Given the description of an element on the screen output the (x, y) to click on. 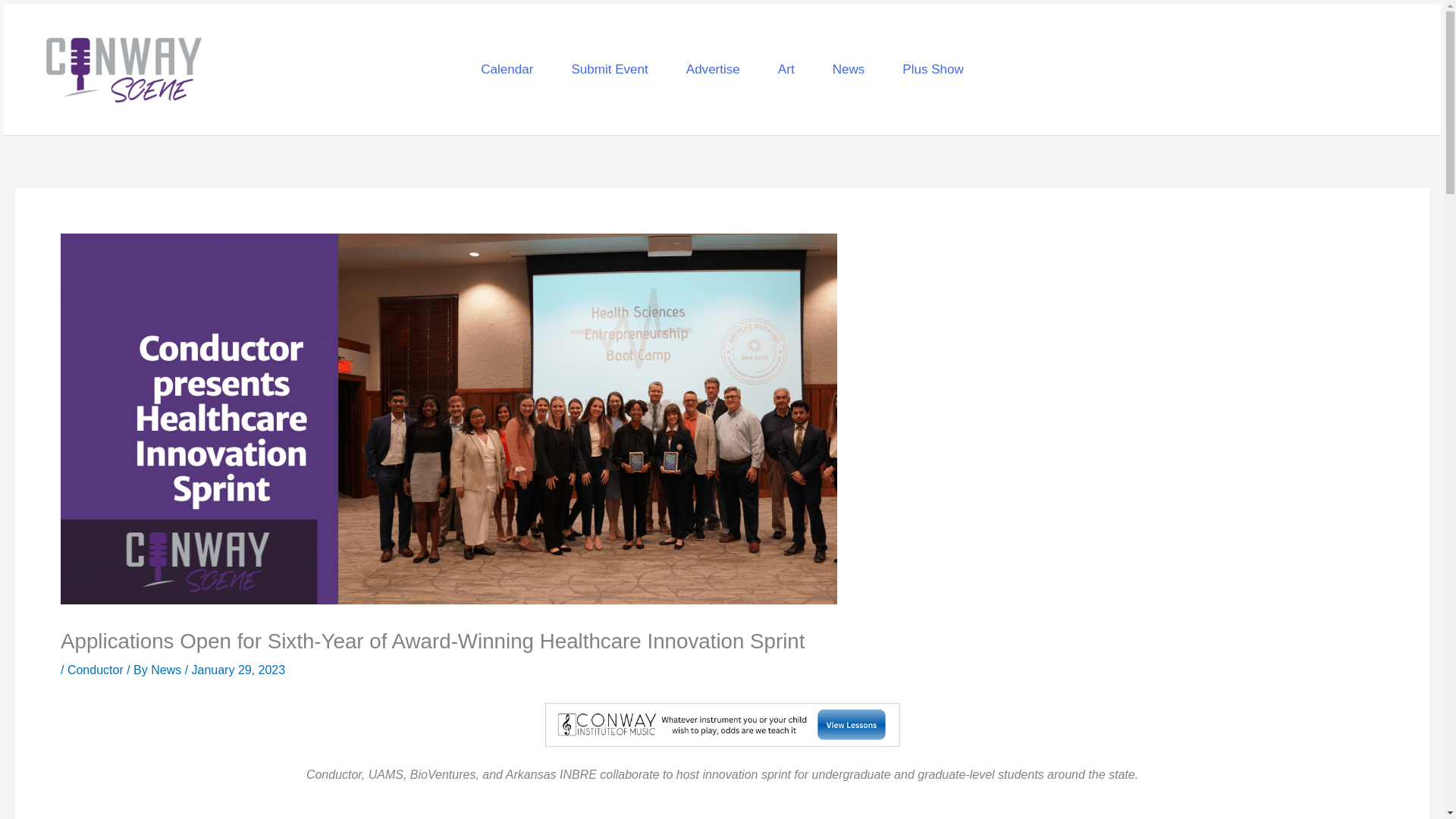
View all posts by News (167, 669)
Submit Event (608, 69)
Advertise (712, 69)
Conductor (94, 669)
Plus Show (932, 69)
News (167, 669)
